Given the description of an element on the screen output the (x, y) to click on. 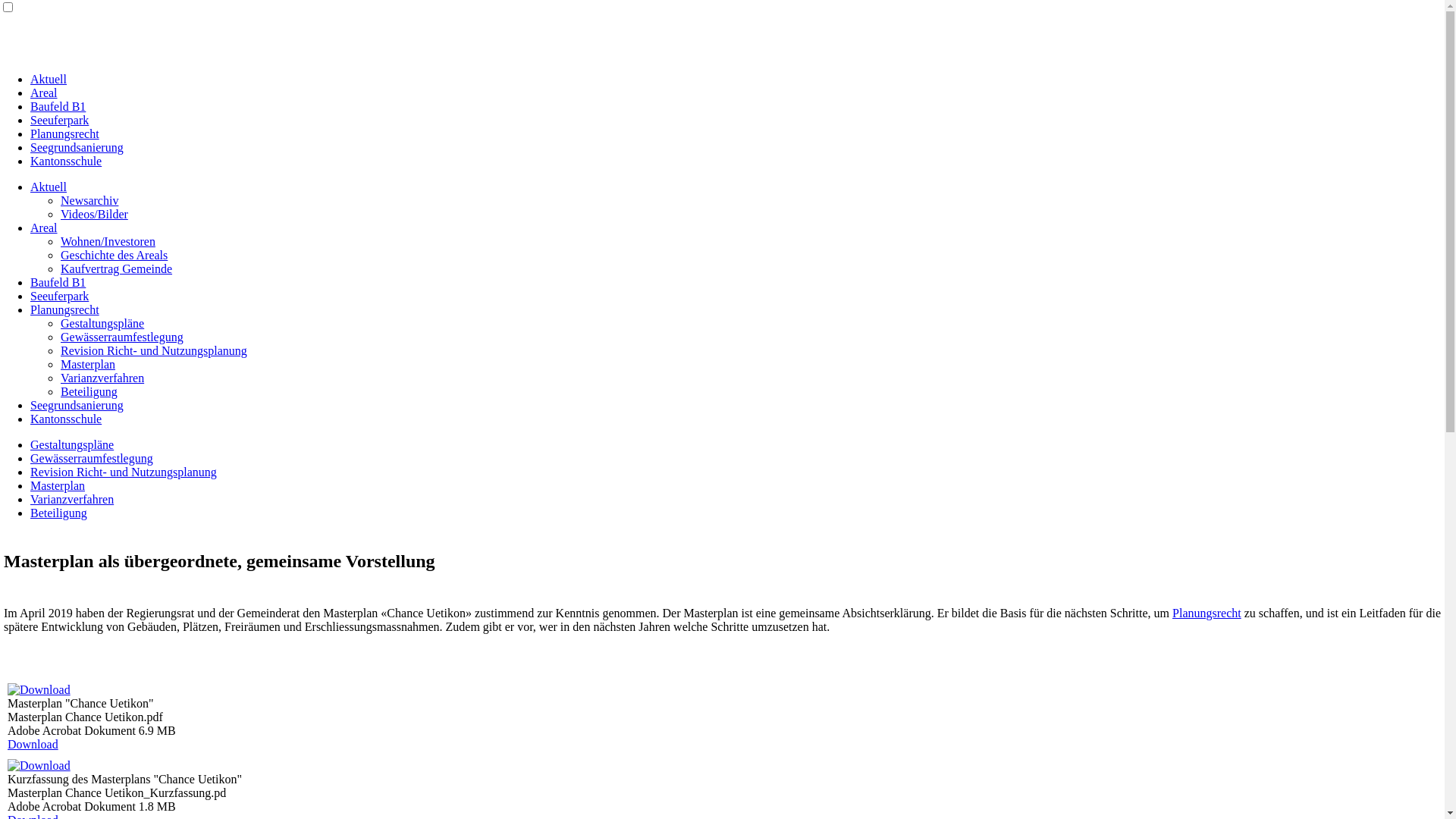
Beteiligung Element type: text (58, 512)
Aktuell Element type: text (48, 78)
Geschichte des Areals Element type: text (113, 254)
Baufeld B1 Element type: text (57, 106)
Varianzverfahren Element type: text (71, 498)
Baufeld B1 Element type: text (57, 282)
Newsarchiv Element type: text (89, 200)
Areal Element type: text (43, 92)
Seeuferpark Element type: text (59, 295)
Planungsrecht Element type: text (1206, 612)
Aktuell Element type: text (48, 186)
Revision Richt- und Nutzungsplanung Element type: text (153, 350)
Planungsrecht Element type: text (64, 133)
Videos/Bilder Element type: text (94, 213)
Varianzverfahren Element type: text (102, 377)
Kantonsschule Element type: text (65, 418)
Seegrundsanierung Element type: text (76, 147)
Kantonsschule Element type: text (65, 160)
Download Element type: text (32, 743)
Areal Element type: text (43, 227)
Wohnen/Investoren Element type: text (107, 241)
Seeuferpark Element type: text (59, 119)
Planungsrecht Element type: text (64, 309)
Seegrundsanierung Element type: text (76, 404)
Masterplan Element type: text (87, 363)
Beteiligung Element type: text (88, 391)
Revision Richt- und Nutzungsplanung Element type: text (123, 471)
Kaufvertrag Gemeinde Element type: text (116, 268)
Masterplan Element type: text (57, 485)
